Given the description of an element on the screen output the (x, y) to click on. 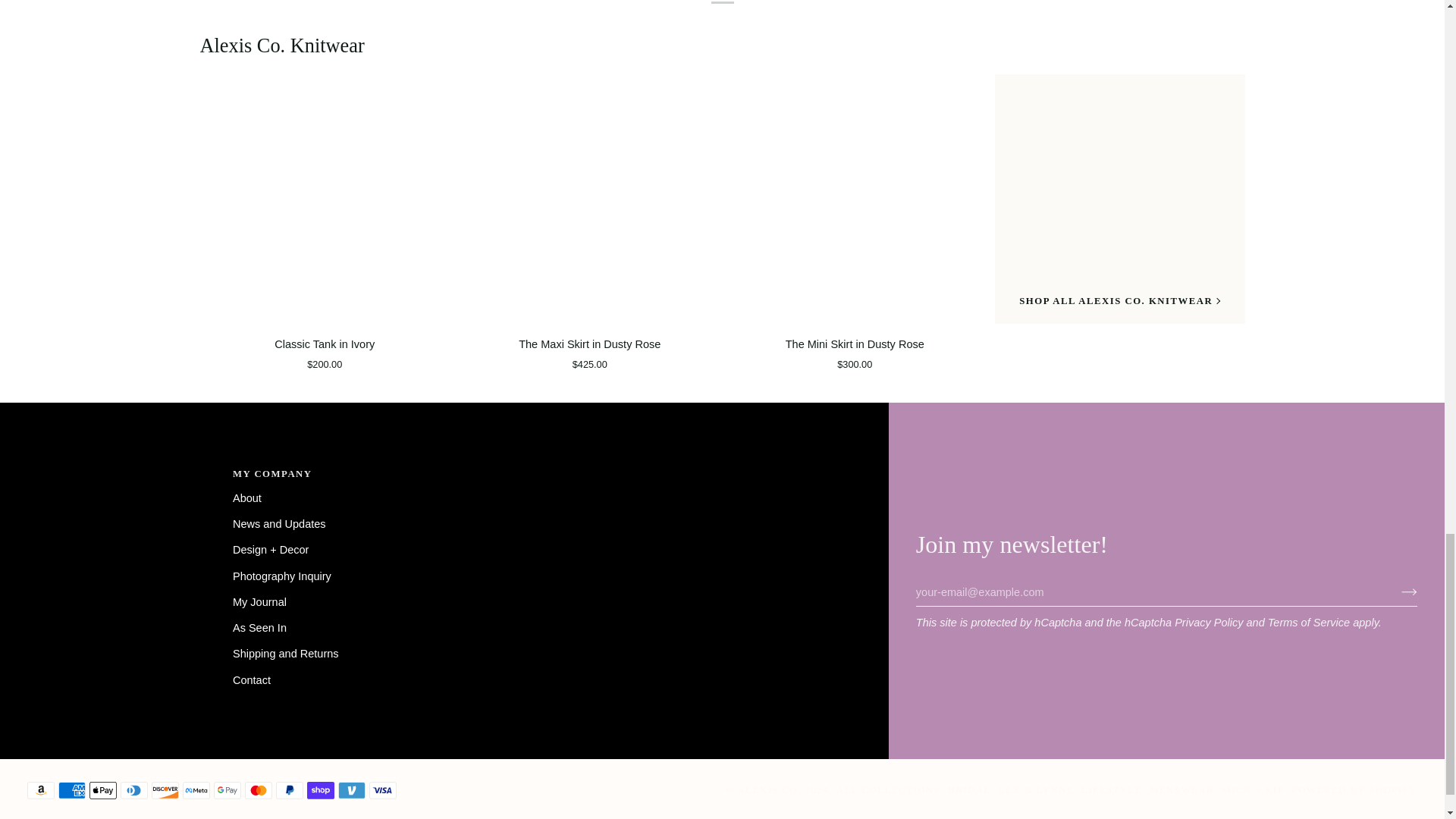
VENMO (351, 790)
AMERICAN EXPRESS (71, 790)
PAYPAL (289, 790)
META PAY (196, 790)
AMAZON (41, 790)
MASTERCARD (258, 790)
DISCOVER (165, 790)
GOOGLE PAY (227, 790)
VISA (382, 790)
SHOP PAY (320, 790)
